Given the description of an element on the screen output the (x, y) to click on. 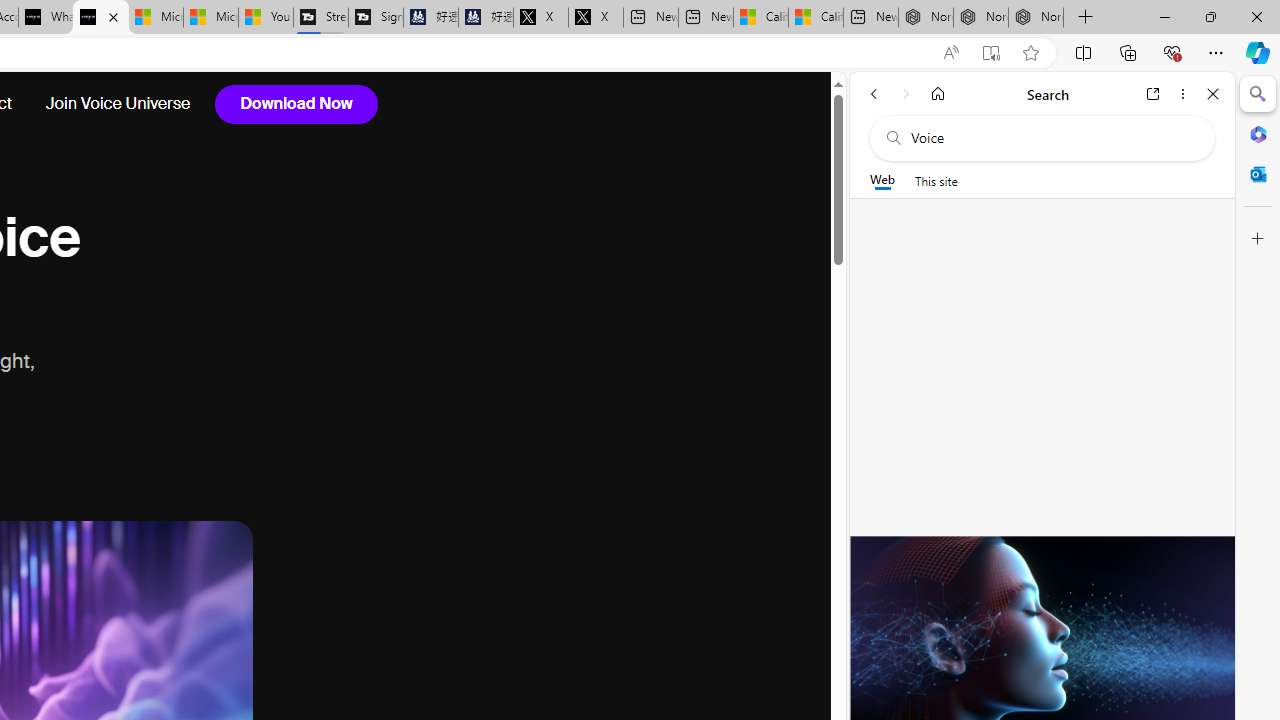
Outlook (1258, 174)
Join Voice Universe (109, 103)
Read aloud this page (Ctrl+Shift+U) (950, 53)
Microsoft Start (211, 17)
Customize (1258, 239)
Nordace - Best Sellers (925, 17)
Nordace - Siena Pro 15 Essential Set (1035, 17)
Microsoft 365 (1258, 133)
